Given the description of an element on the screen output the (x, y) to click on. 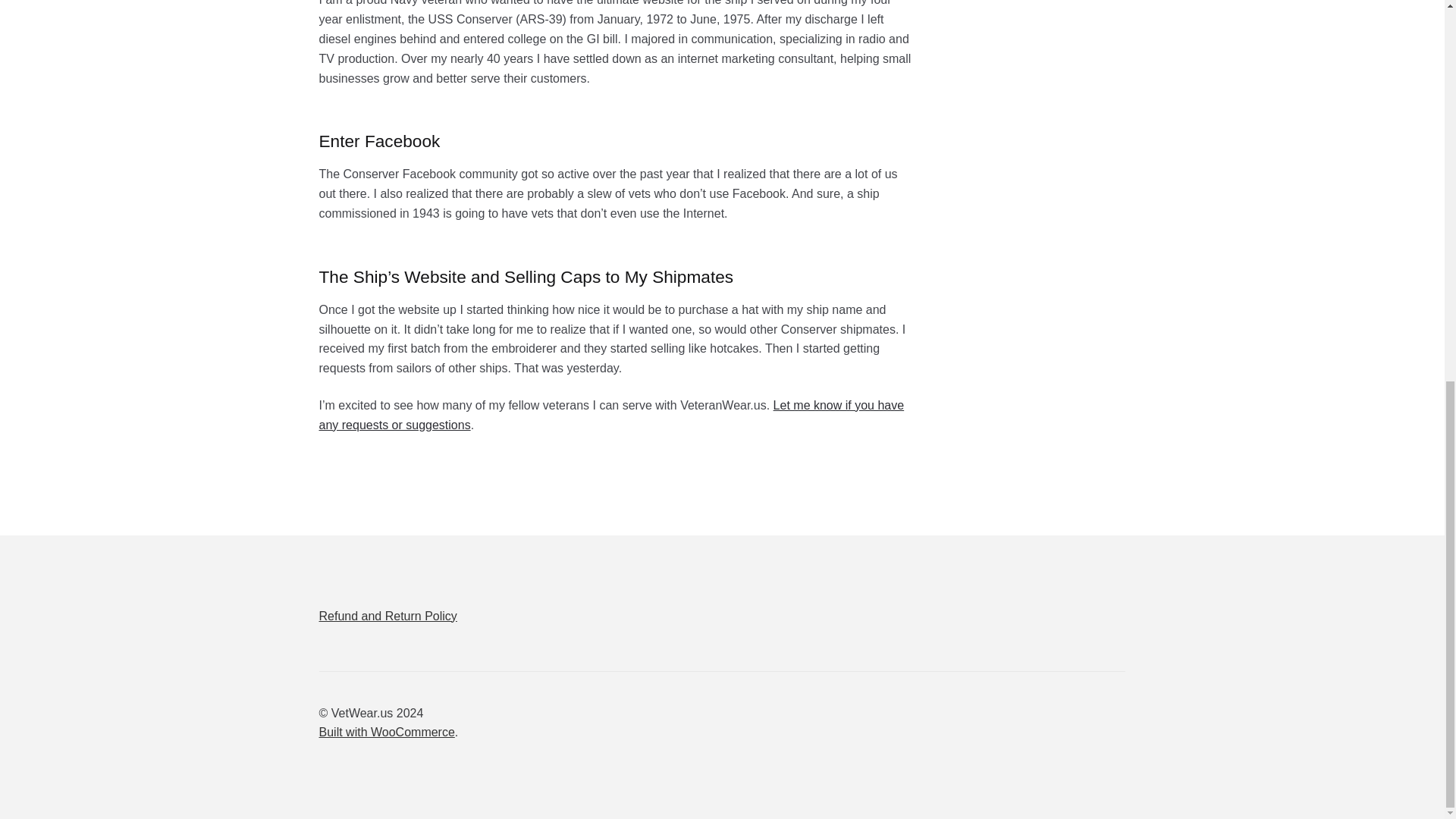
Contact Us (611, 414)
Refund and Return Policy (387, 615)
Built with WooCommerce (386, 731)
Let me know if you have any requests or suggestions (611, 414)
WooCommerce - The Best eCommerce Platform for WordPress (386, 731)
